Given the description of an element on the screen output the (x, y) to click on. 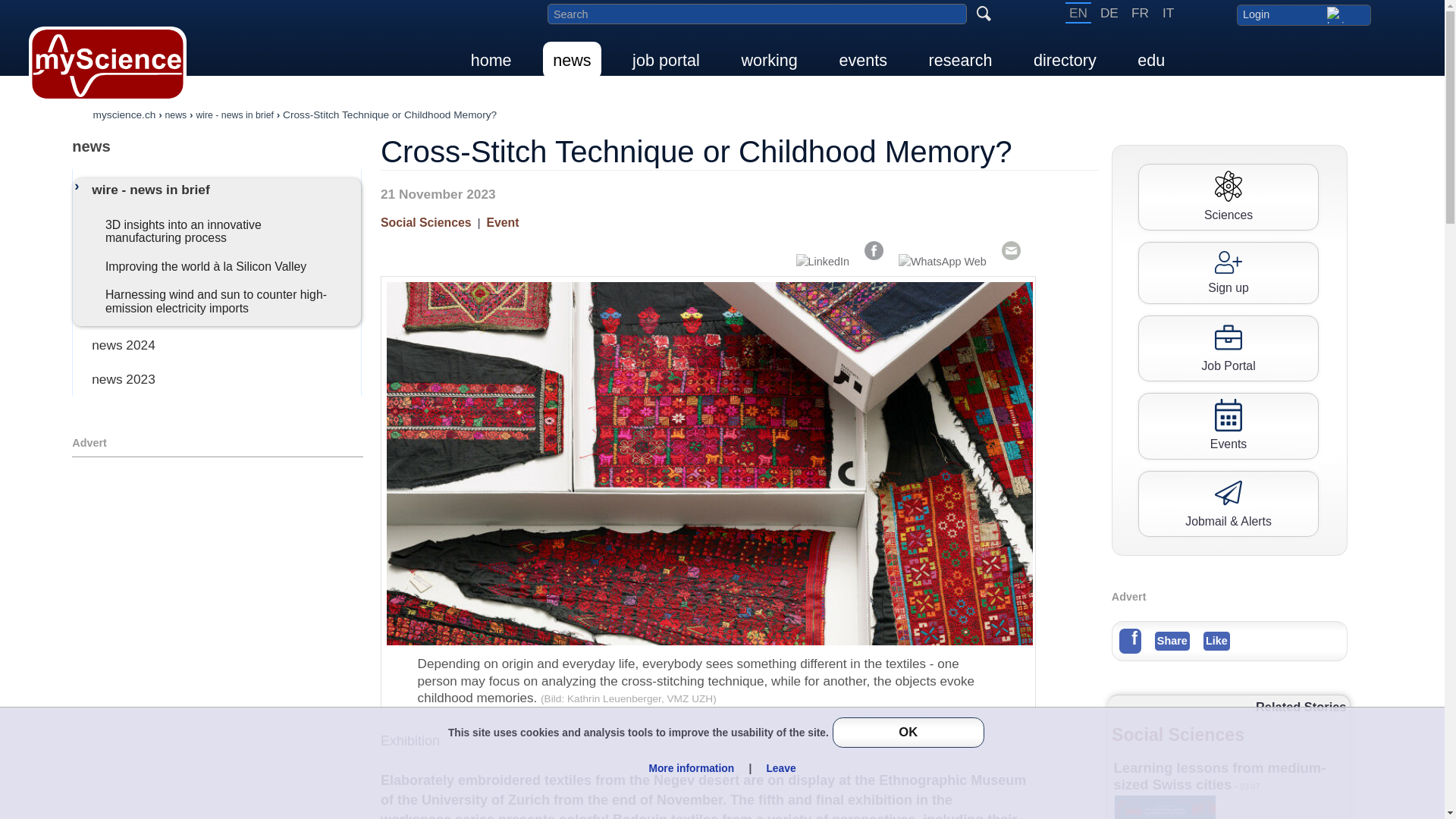
English (1077, 12)
EN (1077, 12)
working (768, 59)
 news  (216, 145)
research (960, 59)
Share on Facebook (874, 250)
Share on WhatsApp Web (942, 261)
Search in myscience.ch (756, 14)
news (571, 59)
FR (1139, 12)
DE (1109, 12)
Italiano (1167, 12)
Deutsch (1109, 12)
events (862, 59)
IT (1167, 12)
